Given the description of an element on the screen output the (x, y) to click on. 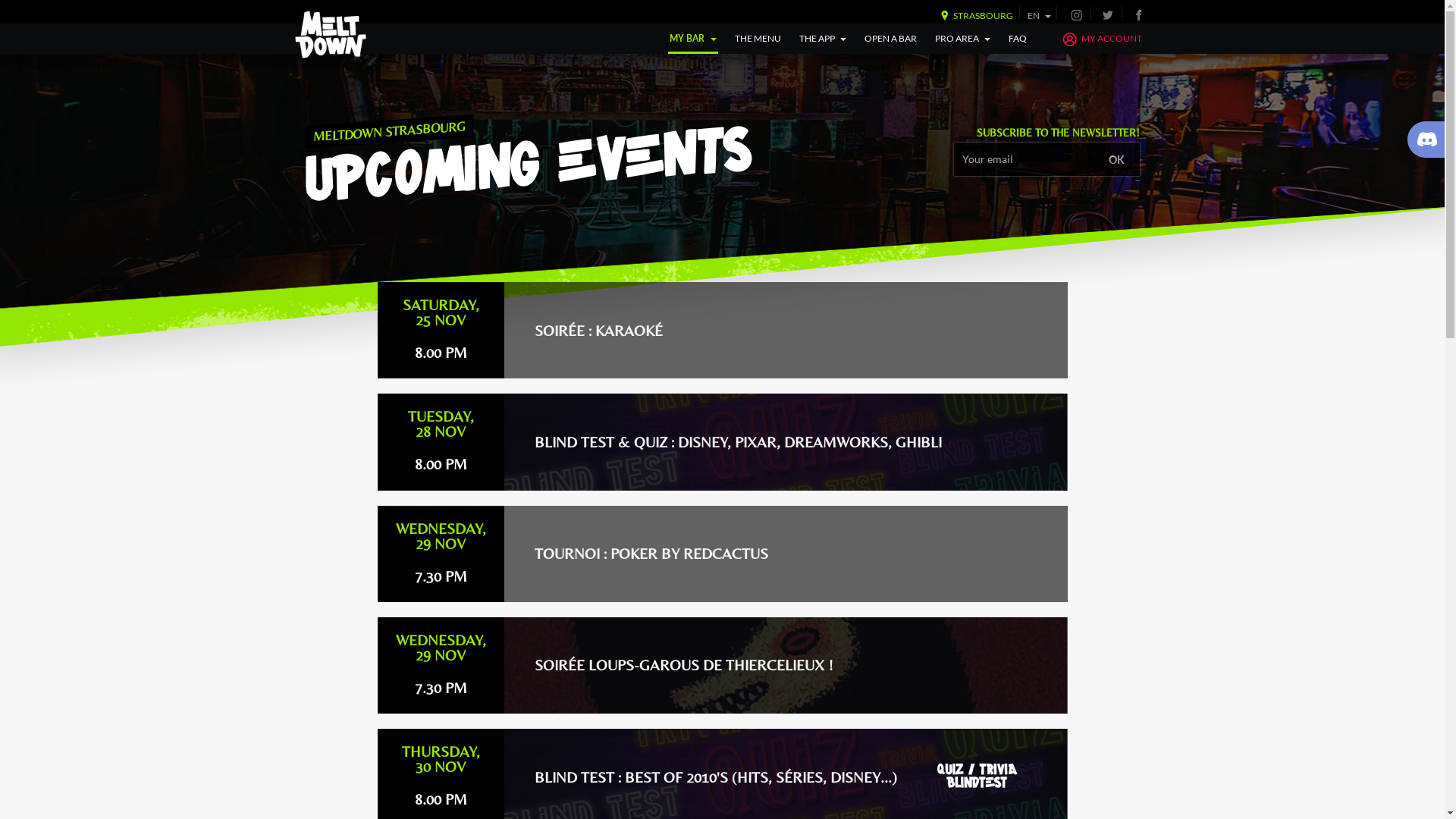
OPEN A BAR Element type: text (890, 38)
    WEDNESDAY,
29 NOV

7.30 PM
TOURNOI : POKER BY REDCACTUS Element type: text (722, 553)
OK Element type: text (1116, 158)
STRASBOURG Element type: text (972, 15)
FACEBOOK Element type: text (1138, 13)
PRO AREA Element type: text (962, 38)
MY ACCOUNT Element type: text (1101, 38)
MELTDOWN Element type: text (330, 34)
THE APP Element type: text (822, 38)
INSTAGRAM Element type: text (1076, 13)
EN Element type: text (1039, 15)
FAQ Element type: text (1017, 38)
THE MENU Element type: text (757, 38)
MY BAR Element type: text (692, 38)
TWITTER Element type: text (1107, 13)
